Given the description of an element on the screen output the (x, y) to click on. 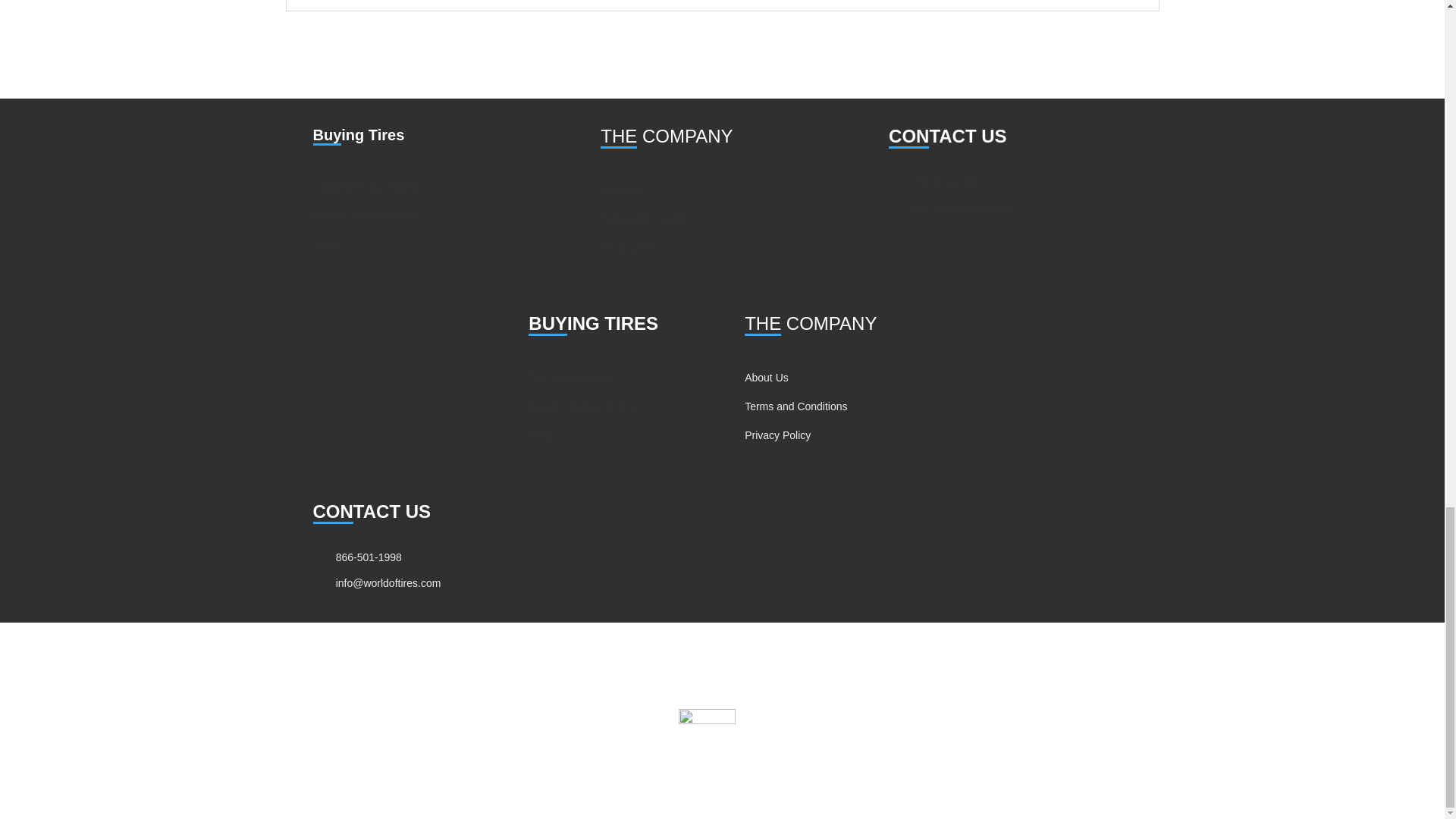
About Us (622, 190)
Privacy Policy (632, 246)
866-501-1998 (943, 182)
Terms and Conditions (651, 218)
FAQs (326, 244)
COMMERCIAL TIRES (365, 186)
